Given the description of an element on the screen output the (x, y) to click on. 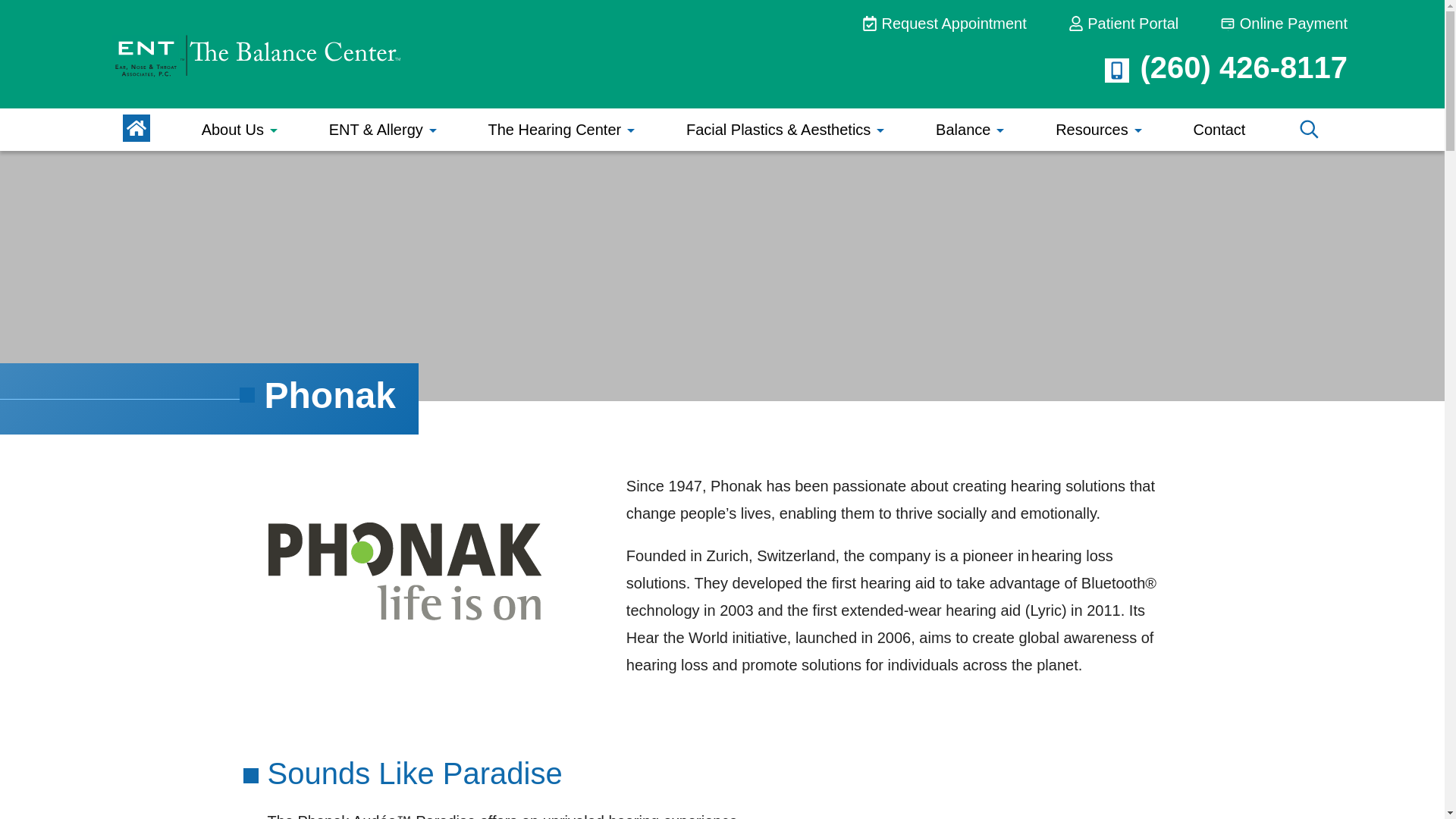
Patient Portal (1123, 25)
Online Payment (1284, 25)
Request Appointment (943, 25)
About Us (239, 129)
